Given the description of an element on the screen output the (x, y) to click on. 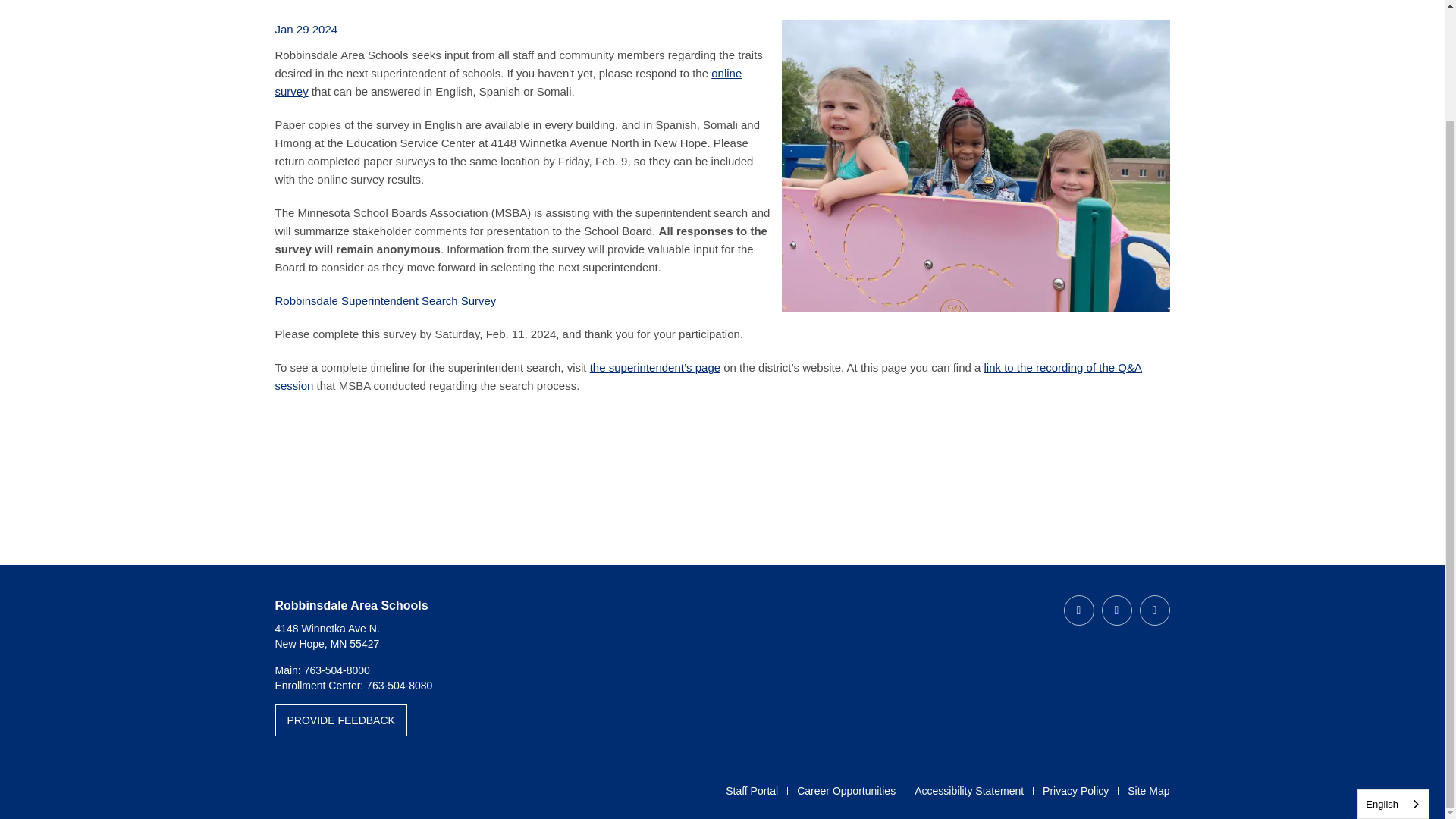
Powered by Finalsite opens in a new window (325, 791)
